Given the description of an element on the screen output the (x, y) to click on. 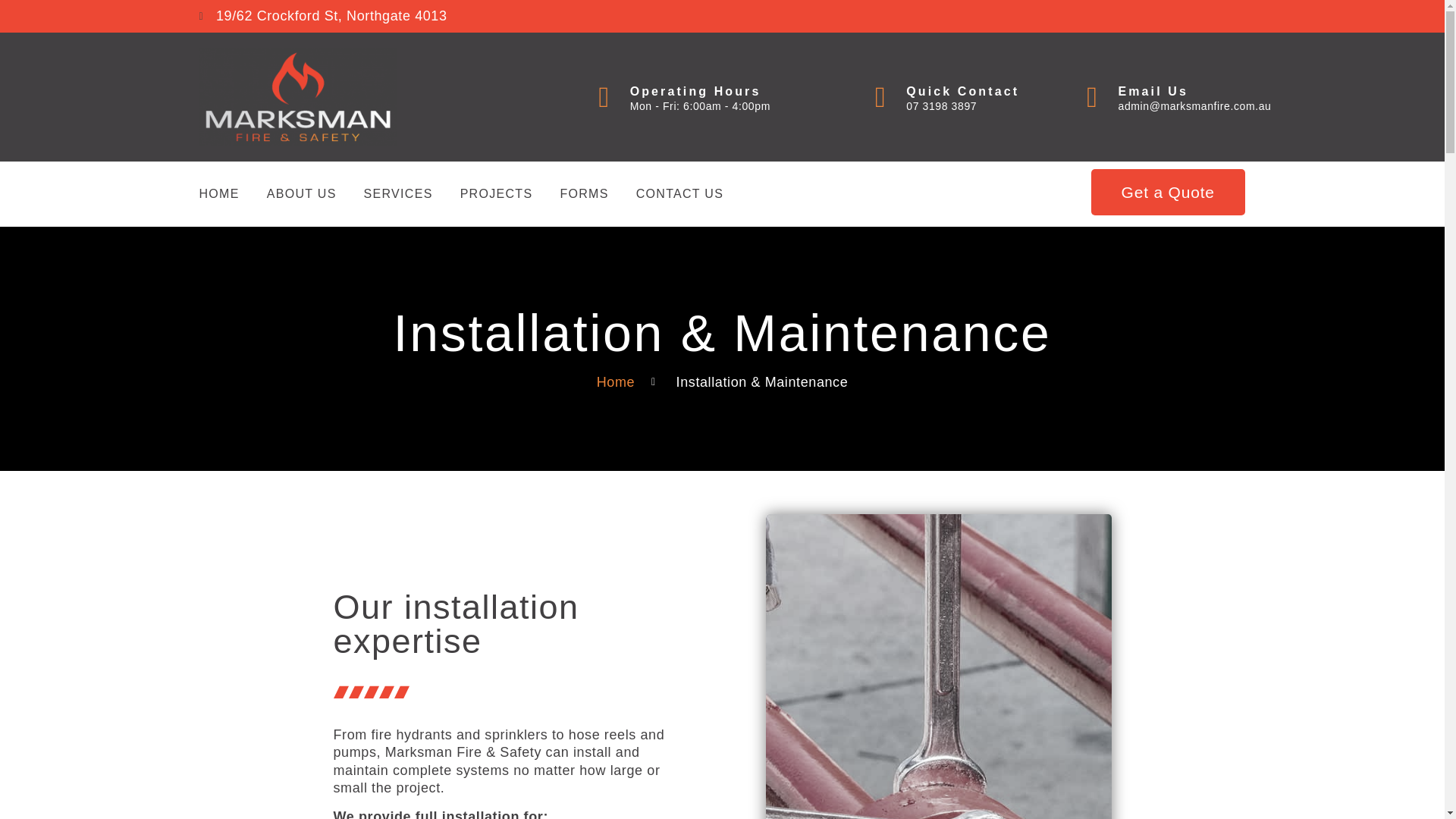
CONTACT US (679, 193)
Get a Quote (1167, 191)
Home (615, 382)
PROJECTS (496, 193)
Email Us (1153, 91)
FORMS (583, 193)
ABOUT US (301, 193)
SERVICES (398, 193)
Quick Contact (962, 91)
